Given the description of an element on the screen output the (x, y) to click on. 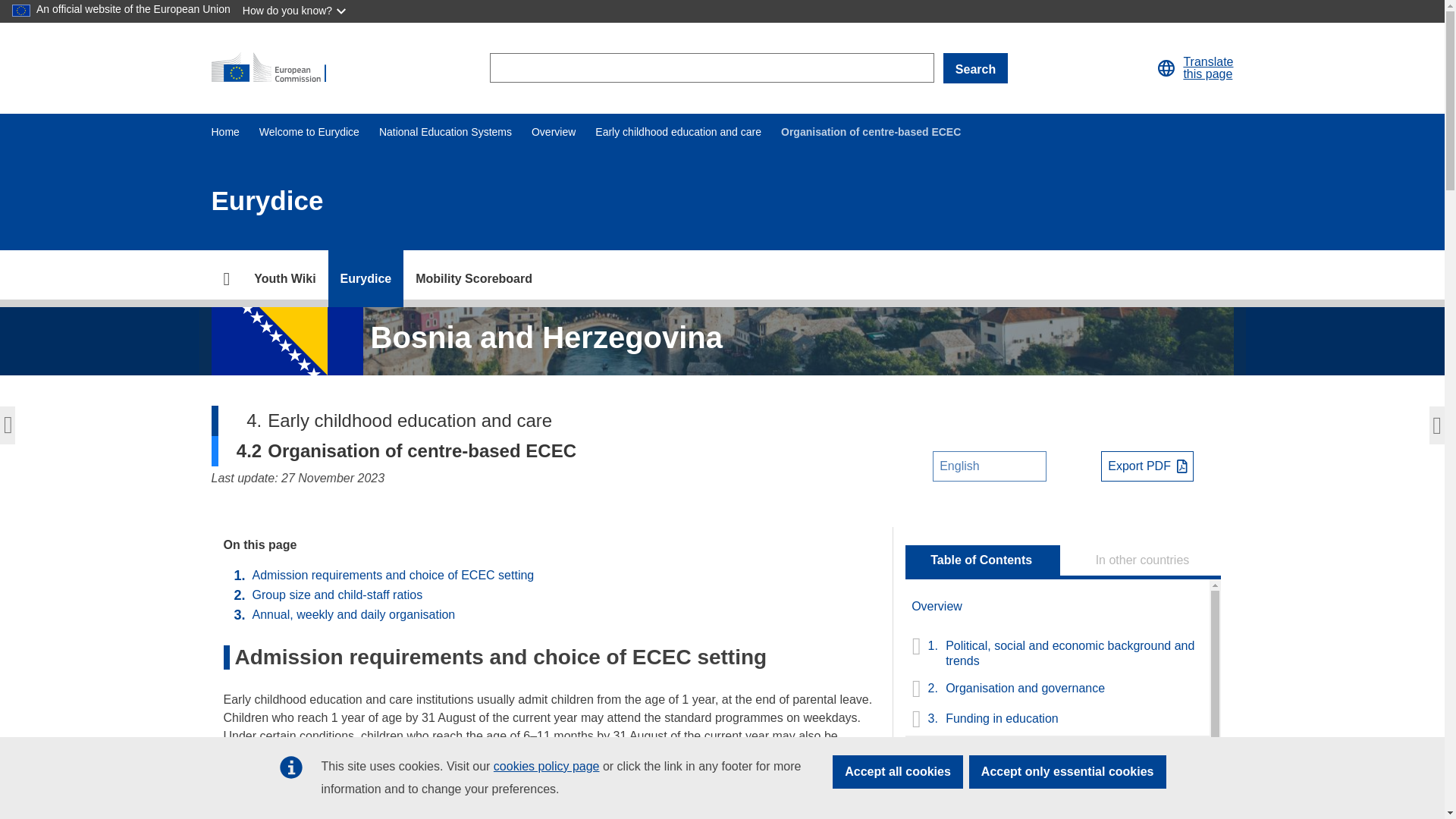
Youth Wiki (284, 278)
Eurydice (366, 278)
Home (224, 132)
cookies policy page (546, 766)
Overview (553, 132)
Search (975, 68)
Translate this page (1207, 68)
European Commission (275, 67)
Translate this page (1165, 67)
Early childhood education and care (678, 132)
